Given the description of an element on the screen output the (x, y) to click on. 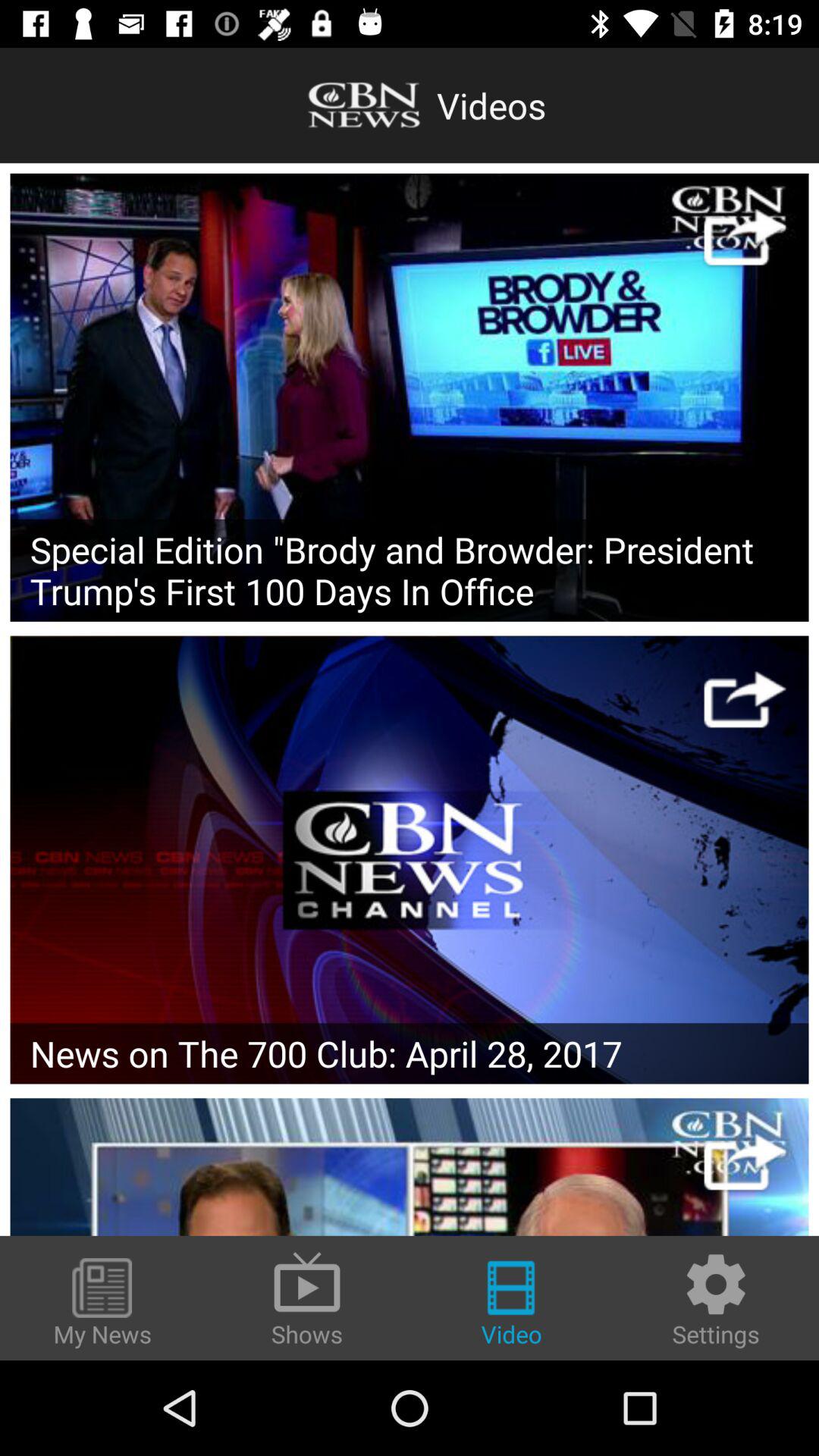
this button takes this video to full screen (744, 699)
